Given the description of an element on the screen output the (x, y) to click on. 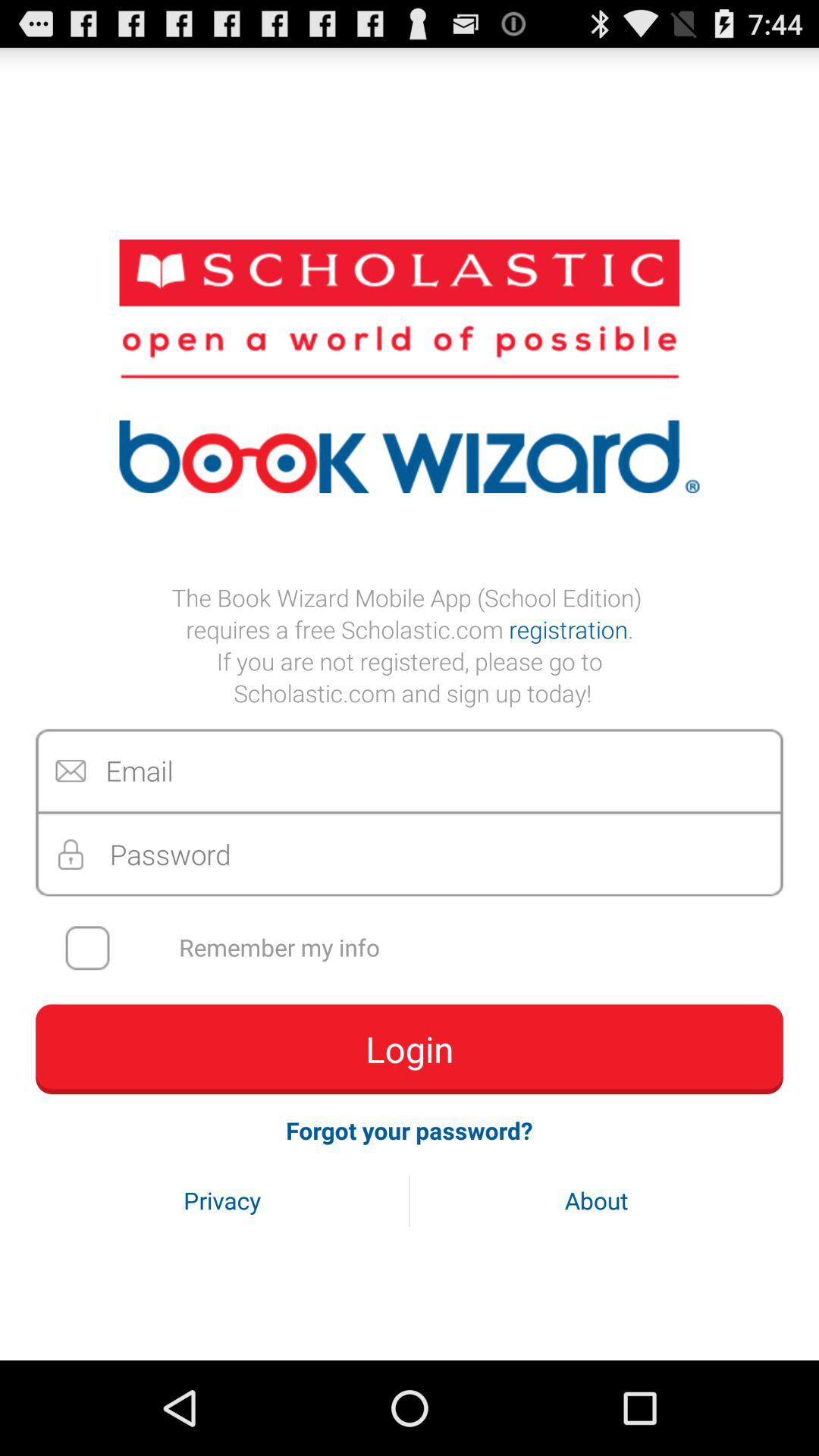
scroll to remember my info (419, 947)
